Given the description of an element on the screen output the (x, y) to click on. 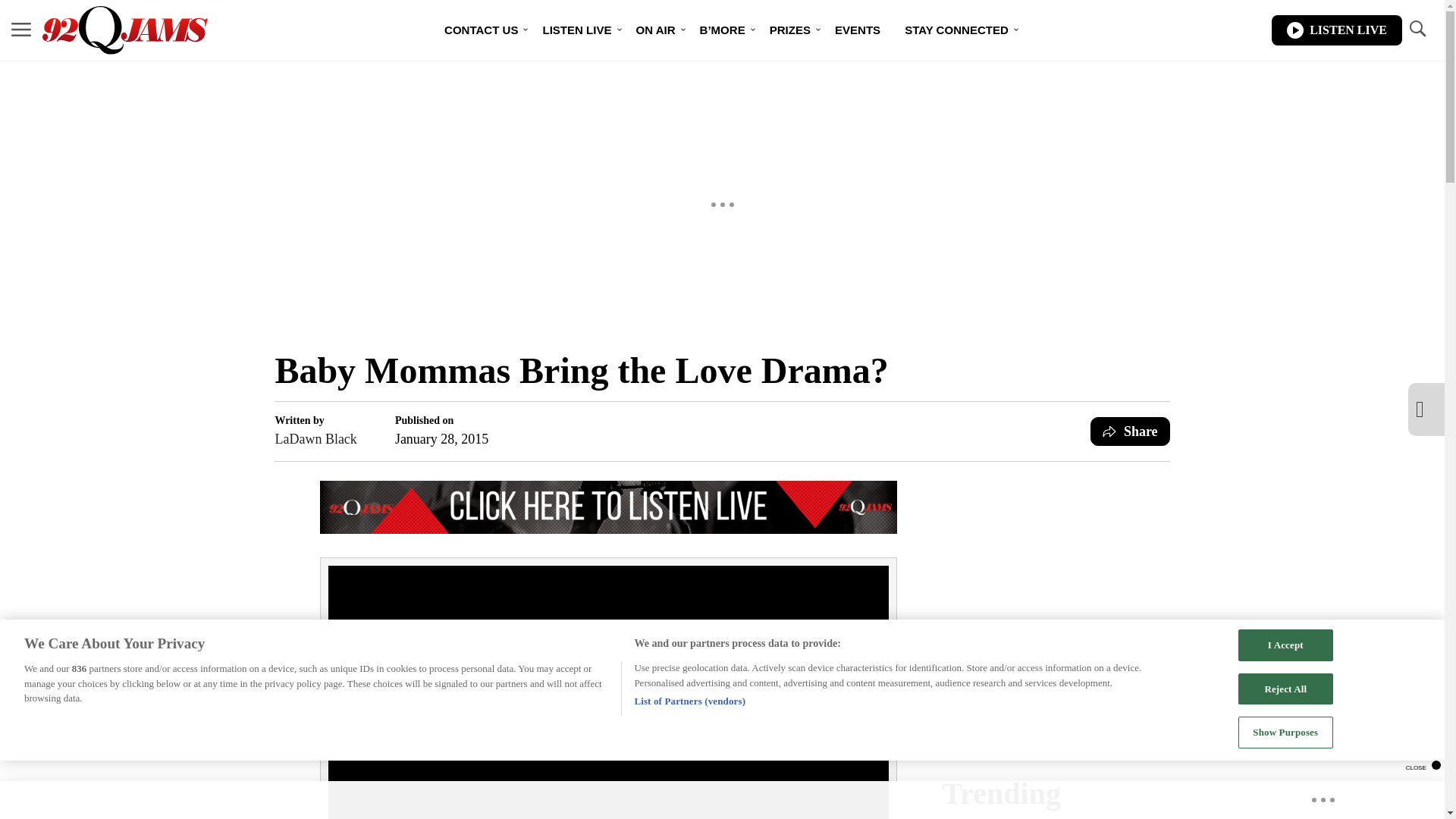
TOGGLE SEARCH (1417, 28)
LISTEN LIVE (1336, 30)
MENU (20, 29)
LISTEN LIVE (576, 30)
STAY CONNECTED (956, 30)
ON AIR (655, 30)
PRIZES (789, 30)
MENU (20, 30)
EVENTS (857, 30)
CONTACT US (480, 30)
TOGGLE SEARCH (1417, 30)
